Given the description of an element on the screen output the (x, y) to click on. 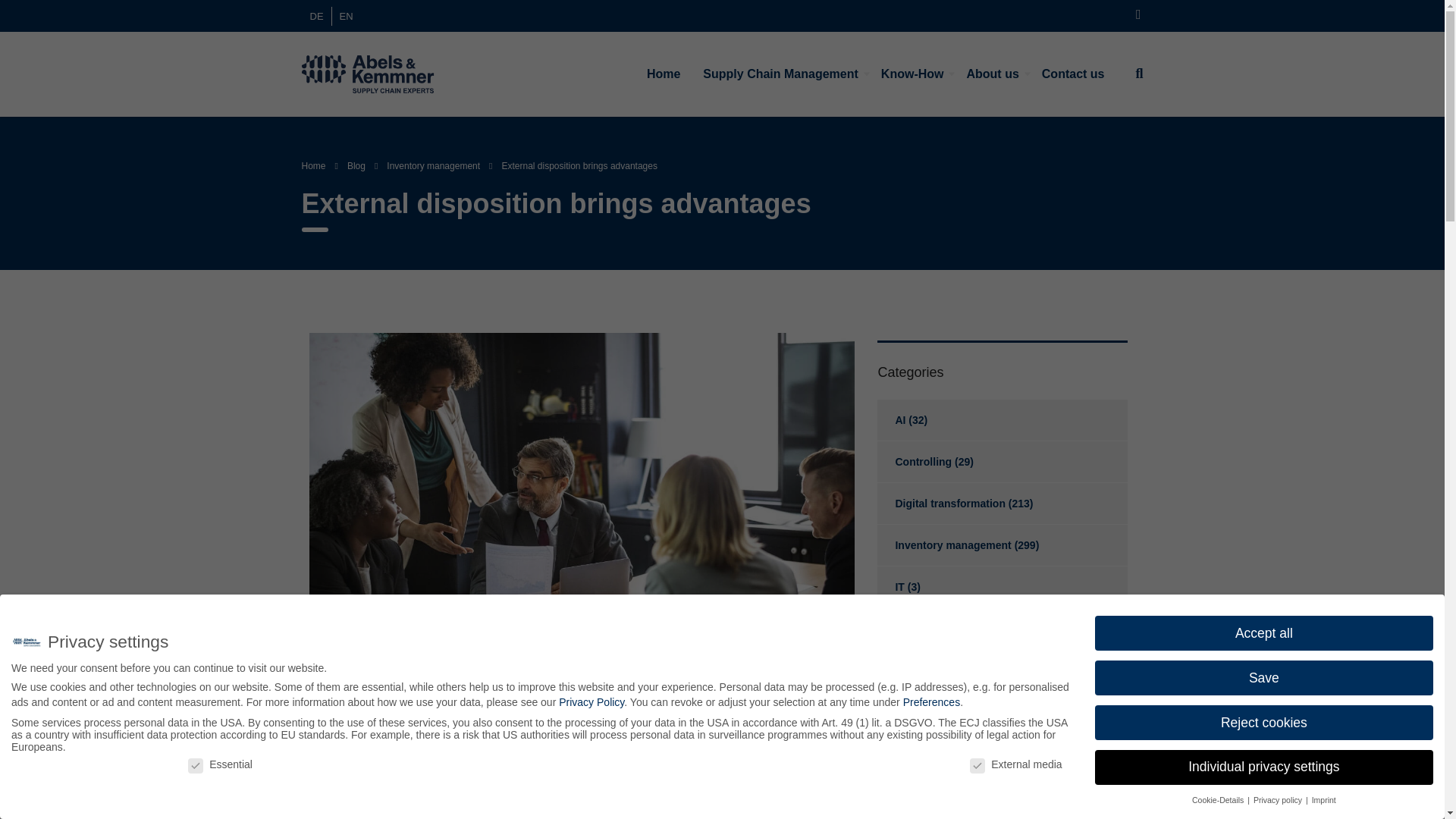
Supply Chain Management (780, 74)
Go to the Inventory management category archives. (433, 165)
About us (992, 74)
EN (346, 15)
Home (662, 74)
Know-How (912, 74)
Go to Blog. (356, 165)
DE (315, 15)
